Given the description of an element on the screen output the (x, y) to click on. 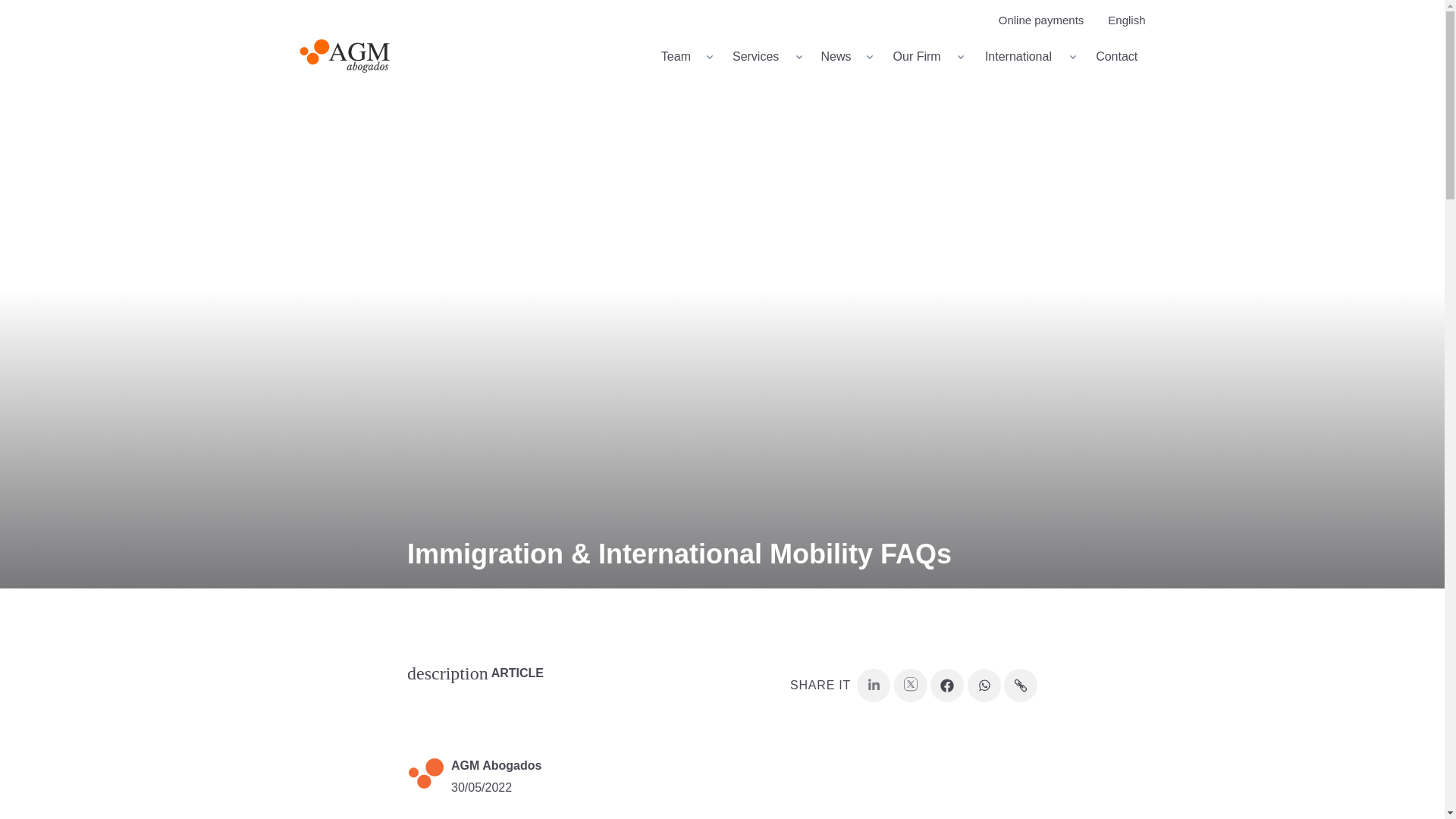
News (843, 55)
Share it on WhatsApp (984, 684)
Team (683, 55)
Share it on Facebook (946, 684)
Share it on Linkedin (873, 684)
English (902, 55)
Our Firm (1121, 20)
Services (924, 55)
Online payments (763, 55)
Copy link (1045, 20)
International (1020, 684)
Share it on Twitter (1025, 55)
